Given the description of an element on the screen output the (x, y) to click on. 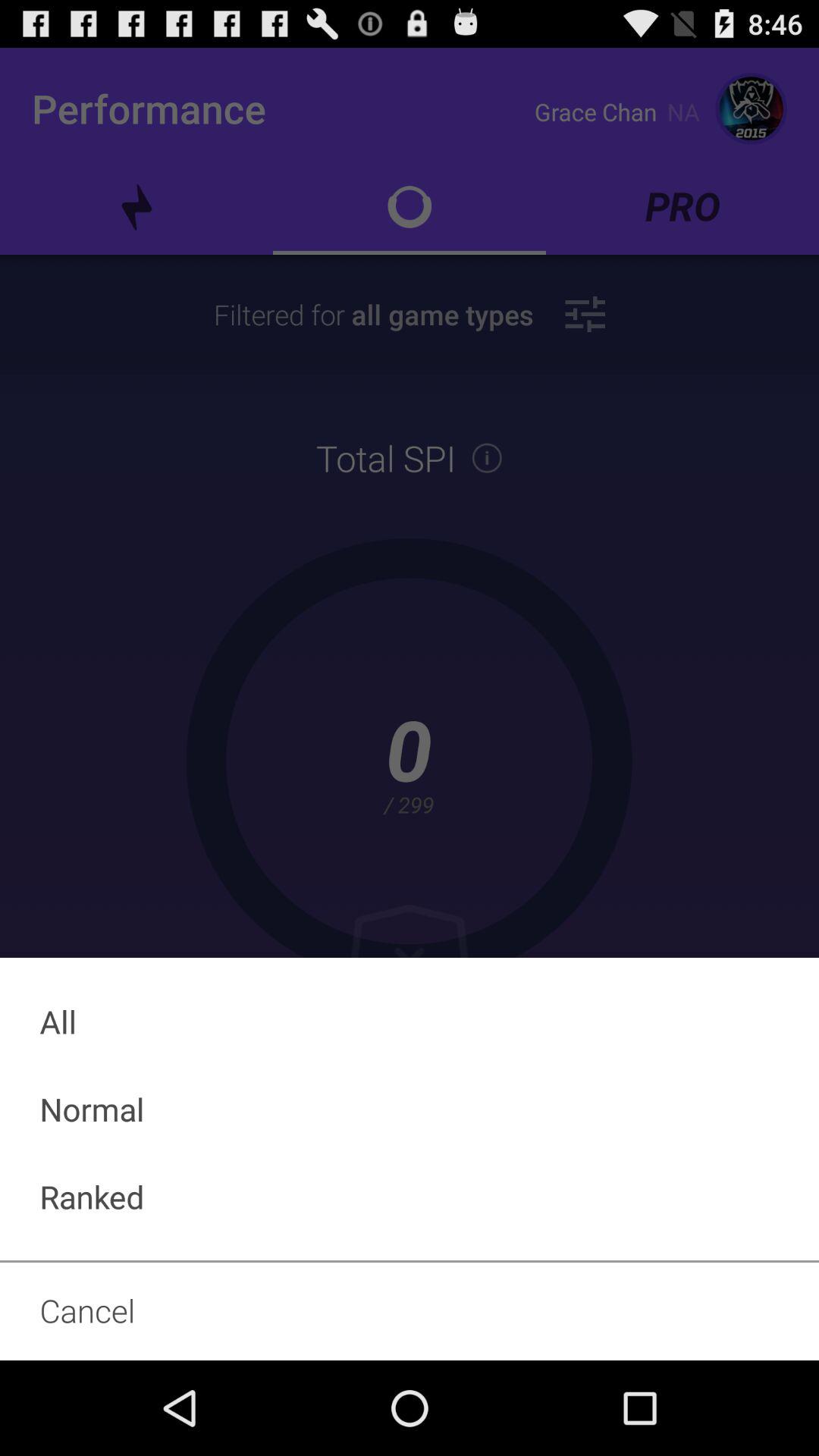
tap cancel icon (409, 1310)
